Given the description of an element on the screen output the (x, y) to click on. 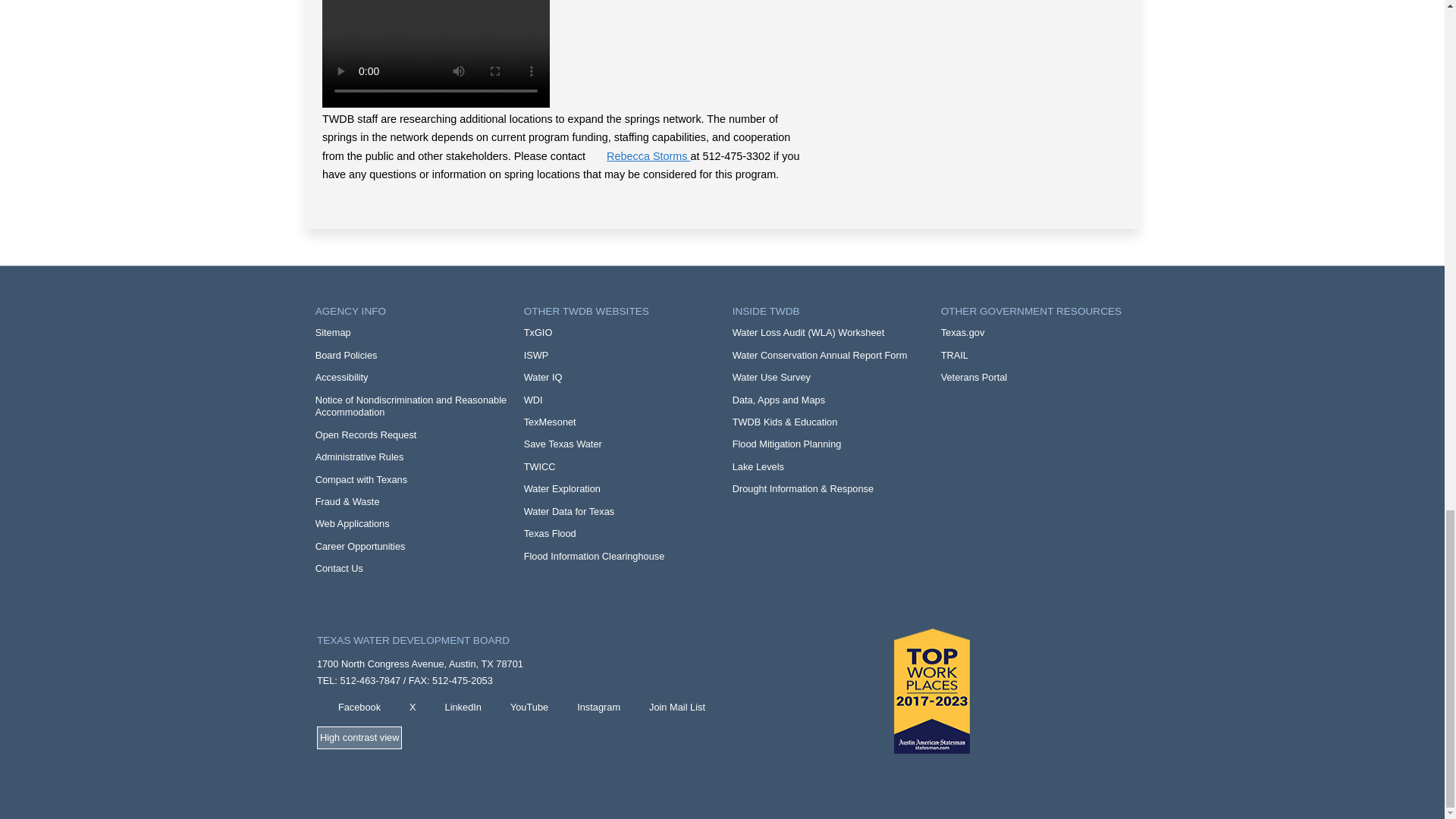
YouTube (518, 707)
Join Mail List (665, 707)
Instagram (588, 707)
